Given the description of an element on the screen output the (x, y) to click on. 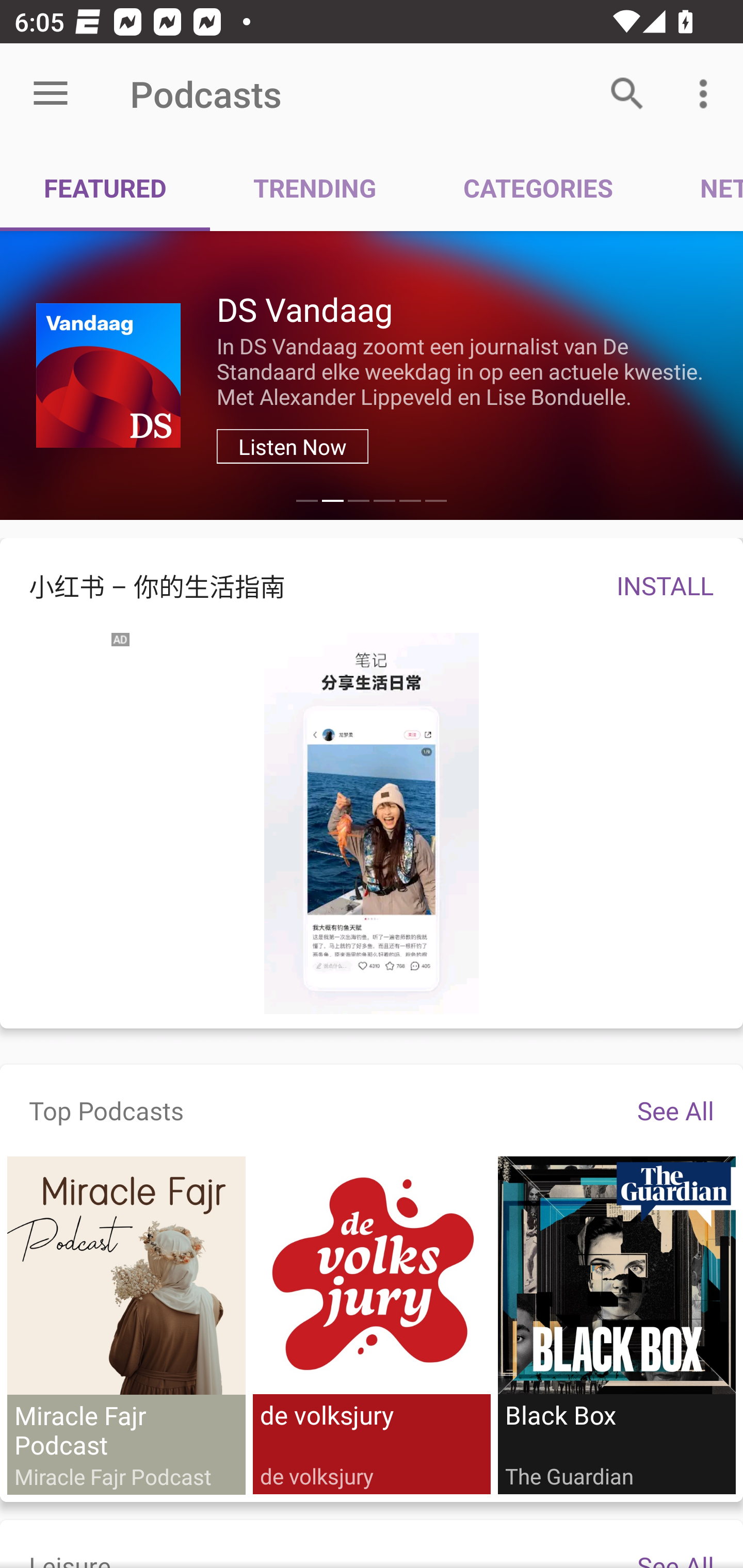
Open menu (50, 93)
Search (626, 93)
More options (706, 93)
FEATURED (105, 187)
TRENDING (314, 187)
CATEGORIES (537, 187)
小红书 – 你的生活指南 (293, 585)
INSTALL (665, 584)
Top Podcasts (106, 1109)
See All (675, 1109)
Miracle Fajr Podcast (126, 1325)
de volksjury (371, 1325)
Black Box The Guardian (616, 1325)
